Given the description of an element on the screen output the (x, y) to click on. 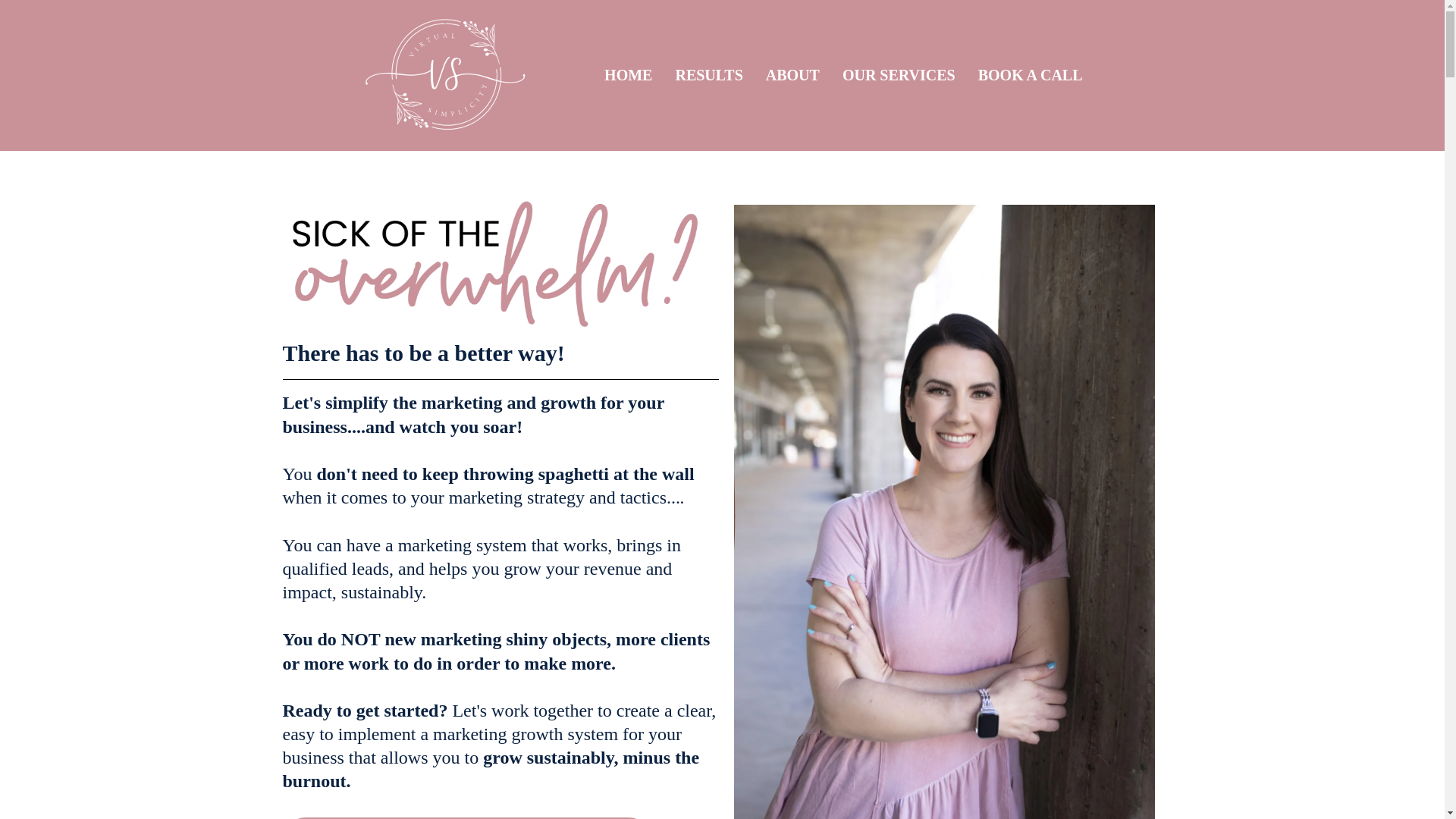
HOME (627, 74)
BOOK A CALL (1030, 74)
RESULTS (708, 74)
OUR SERVICES (898, 74)
ABOUT (792, 74)
